Given the description of an element on the screen output the (x, y) to click on. 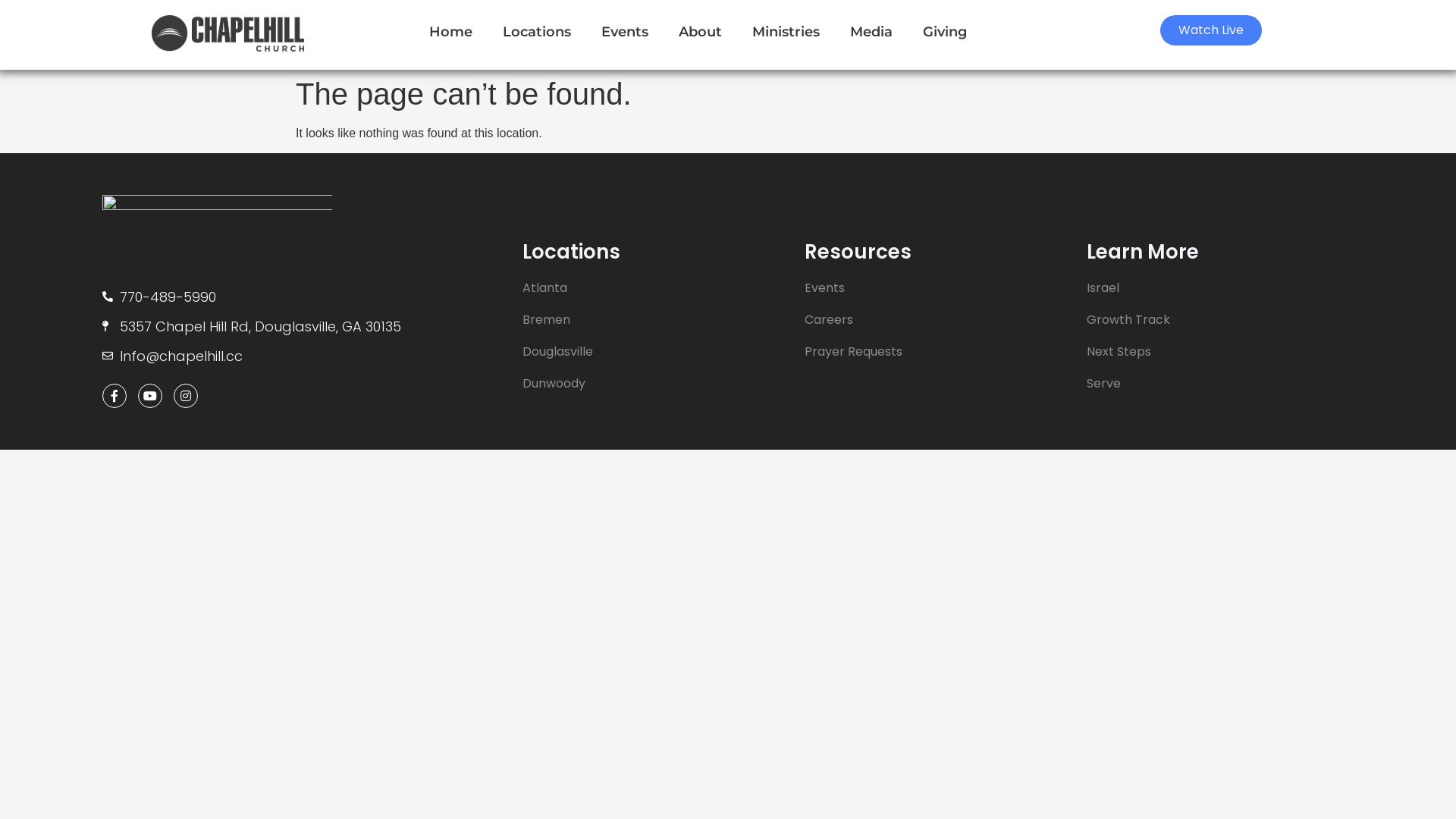
Locations Element type: text (536, 31)
Events Element type: text (624, 31)
Douglasville Element type: text (655, 351)
Watch Live Element type: text (1210, 30)
Events Element type: text (937, 288)
Israel Element type: text (1219, 288)
Home Element type: text (450, 31)
Serve Element type: text (1219, 383)
Careers Element type: text (937, 319)
Next Steps Element type: text (1219, 351)
Dunwoody Element type: text (655, 383)
Media Element type: text (870, 31)
Prayer Requests Element type: text (937, 351)
About Element type: text (700, 31)
Giving Element type: text (944, 31)
Bremen Element type: text (655, 319)
Ministries Element type: text (785, 31)
Atlanta Element type: text (655, 288)
Growth Track Element type: text (1219, 319)
